Given the description of an element on the screen output the (x, y) to click on. 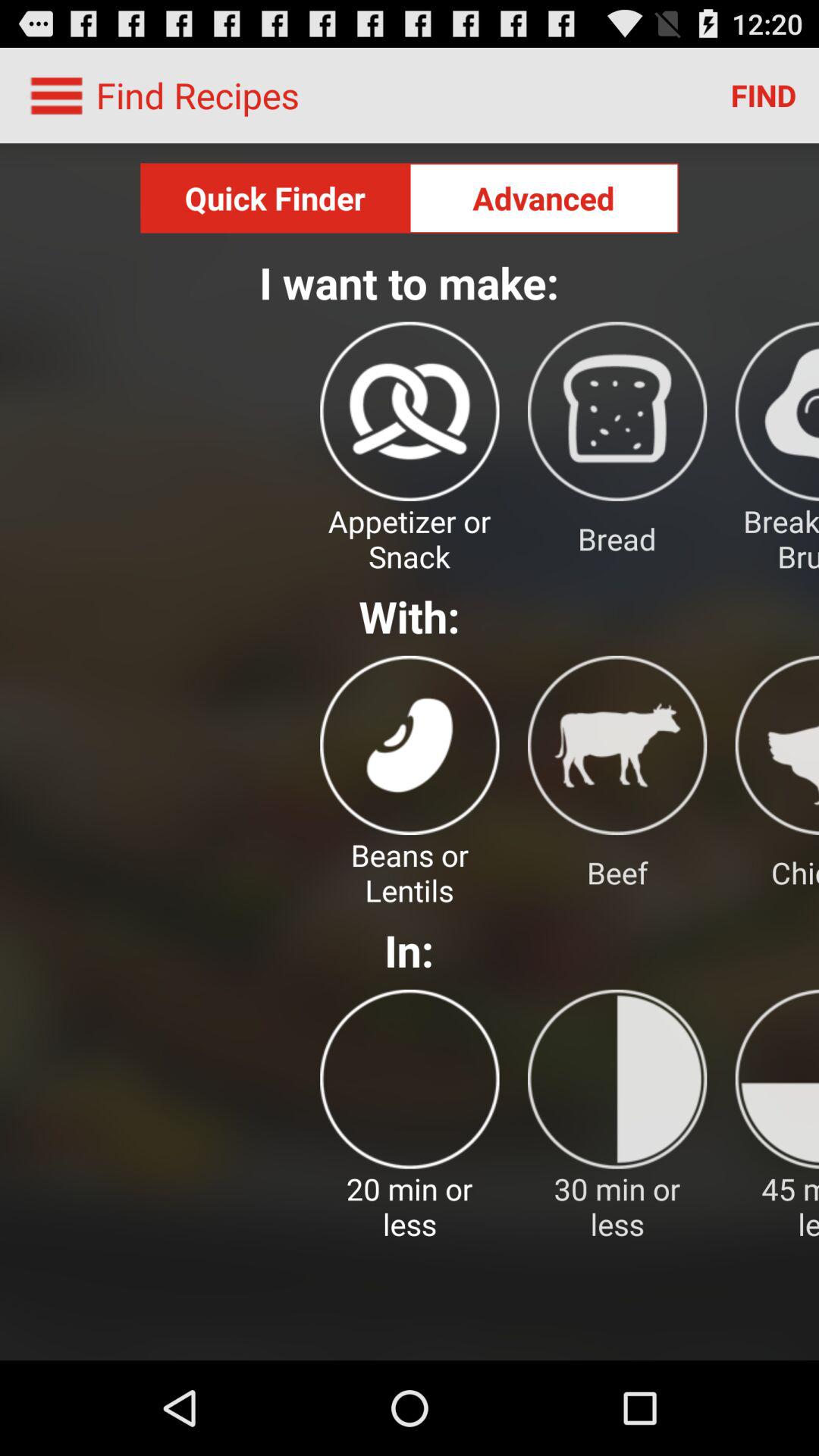
press the item below the find recipes (274, 198)
